Given the description of an element on the screen output the (x, y) to click on. 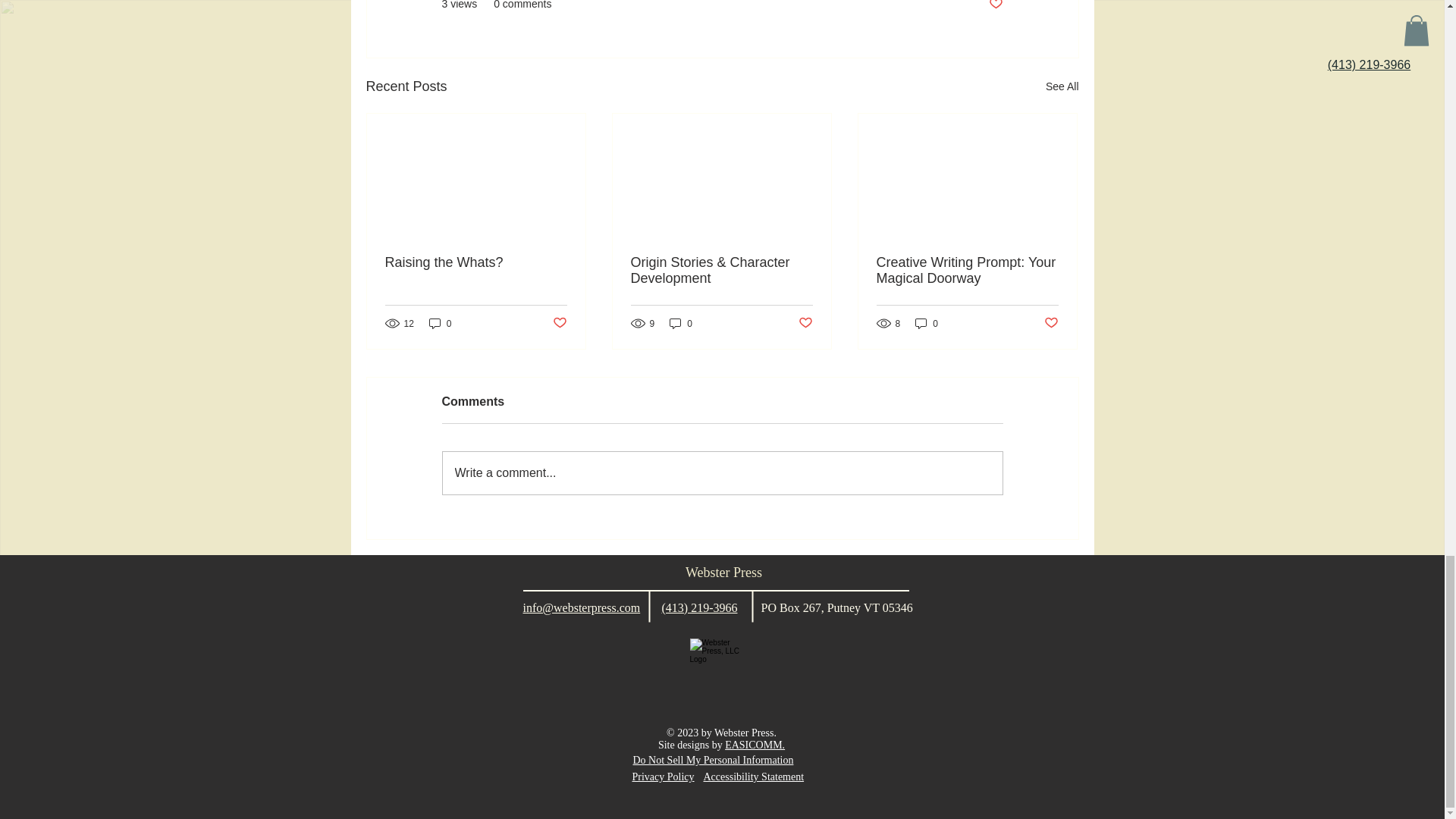
Post not marked as liked (558, 323)
Post not marked as liked (995, 6)
Raising the Whats? (476, 262)
Write a comment... (722, 473)
0 (926, 323)
Creative Writing Prompt: Your Magical Doorway (967, 270)
See All (1061, 86)
Post not marked as liked (1050, 323)
0 (440, 323)
0 (681, 323)
Post not marked as liked (804, 323)
